Given the description of an element on the screen output the (x, y) to click on. 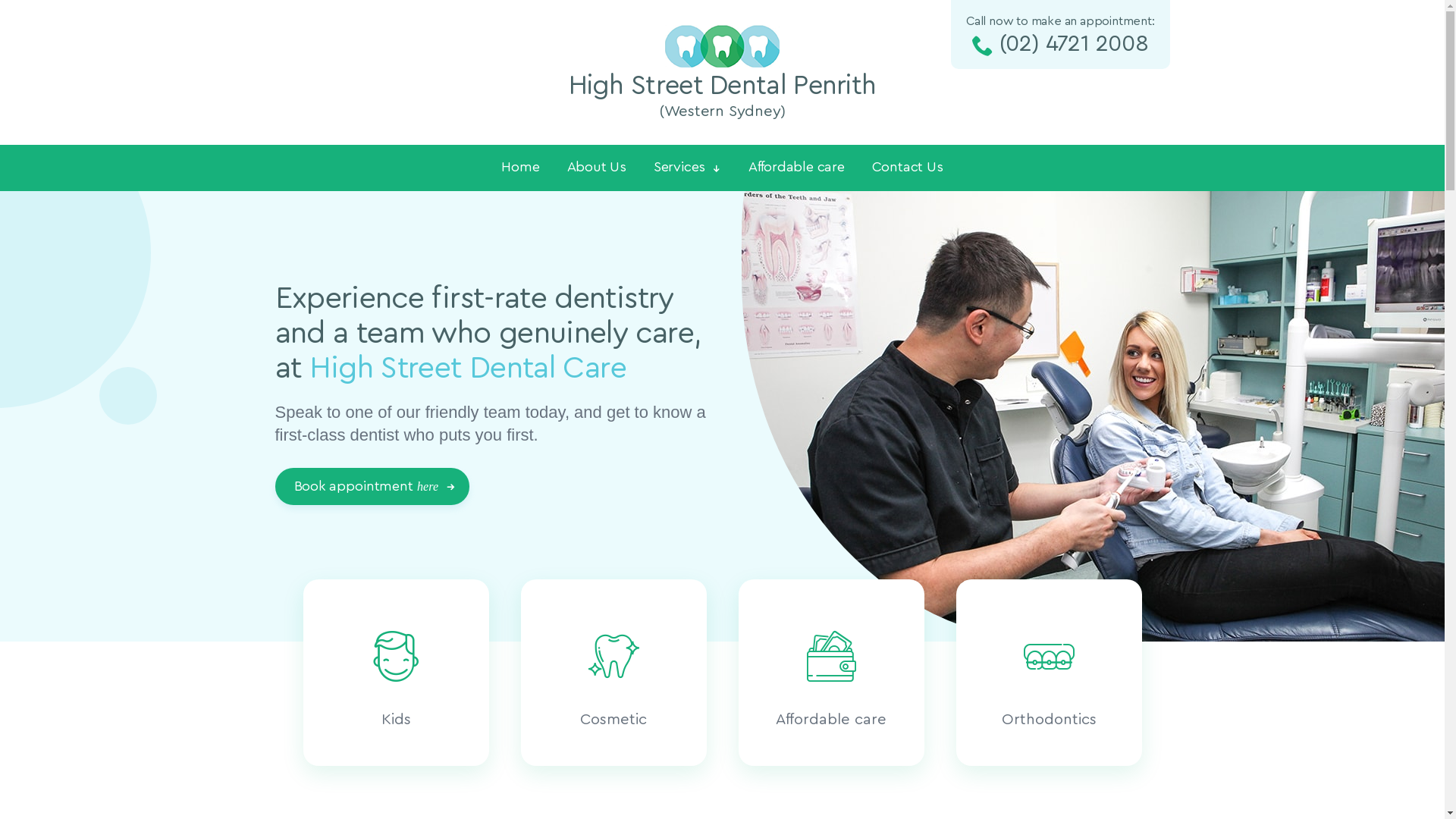
Contact Us Element type: text (907, 166)
Kids Element type: text (396, 672)
Affordable care Element type: text (831, 672)
Cosmetic Element type: text (613, 672)
Orthodontics Element type: text (1048, 672)
High Street Dental Penrith
(Western Sydney) Element type: text (722, 73)
Call now to make an appointment:
(02) 4721 2008 Element type: text (1059, 34)
About Us Element type: text (596, 166)
Services Element type: text (687, 167)
Affordable care Element type: text (796, 166)
Book appointment here Element type: text (371, 486)
Home Element type: text (519, 166)
